Given the description of an element on the screen output the (x, y) to click on. 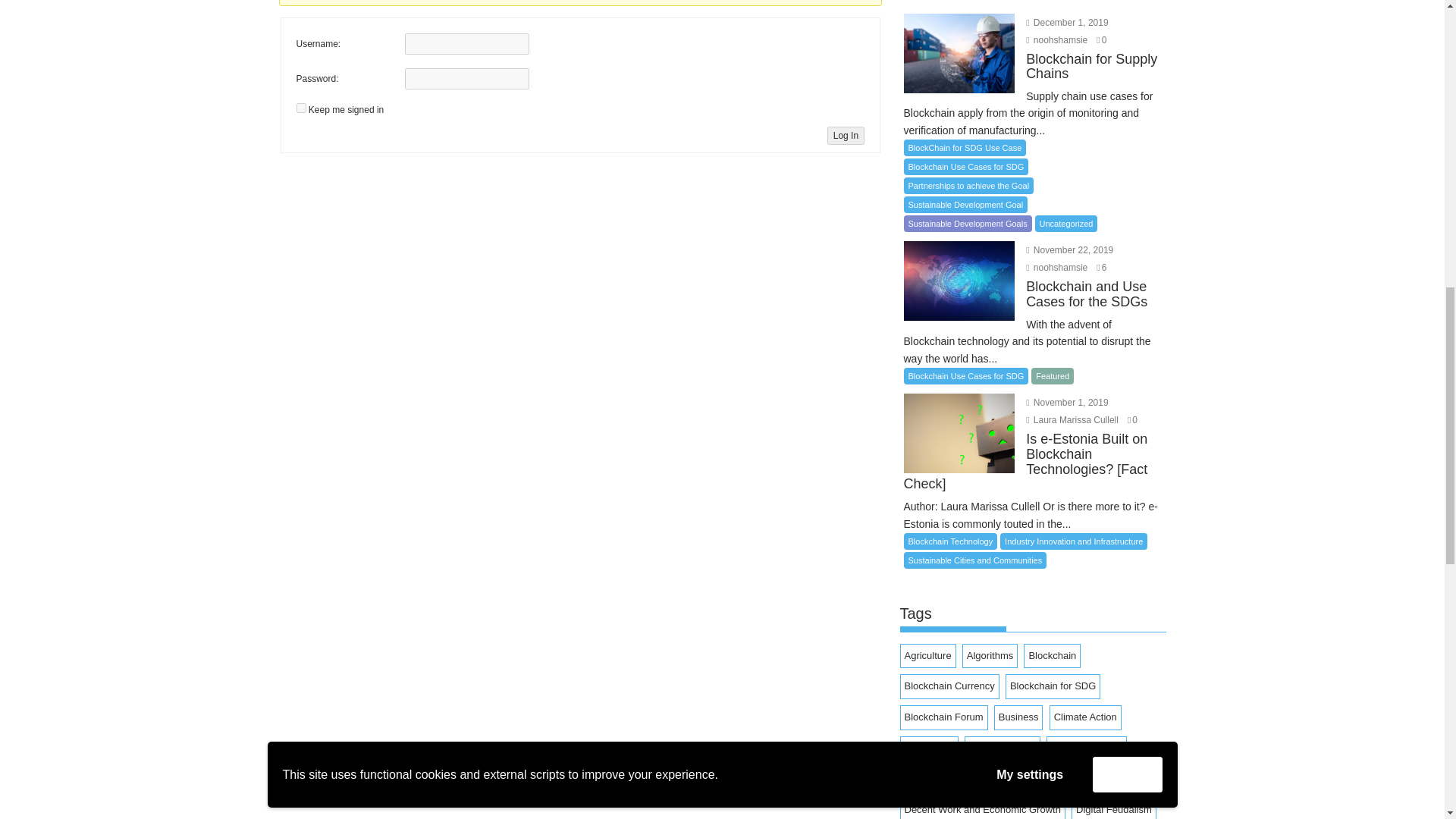
noohshamsie (1056, 267)
noohshamsie (1056, 40)
forever (300, 108)
Log In (845, 135)
